Given the description of an element on the screen output the (x, y) to click on. 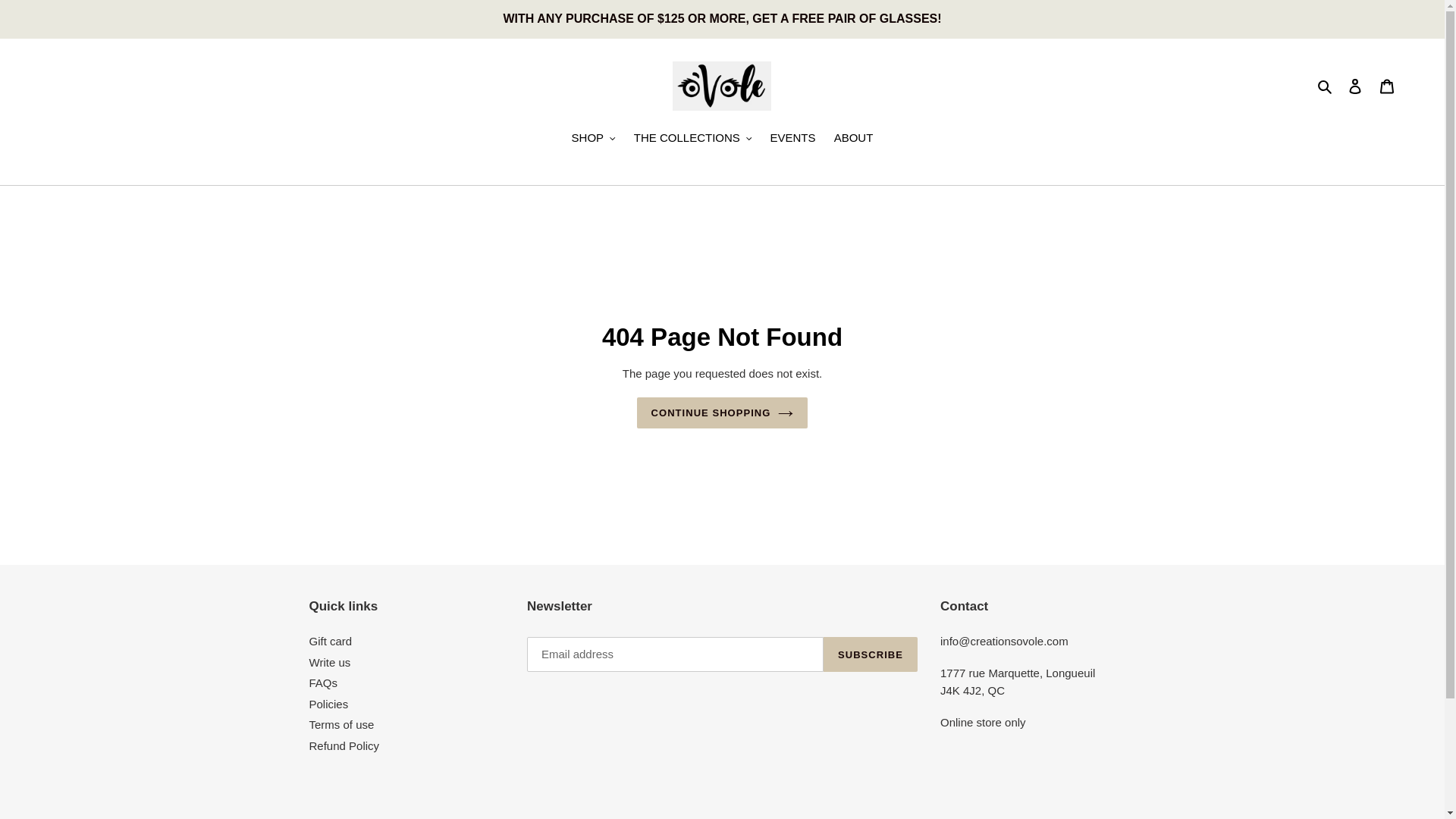
Log in (1355, 85)
Search (1326, 85)
Cart (1387, 85)
